Given the description of an element on the screen output the (x, y) to click on. 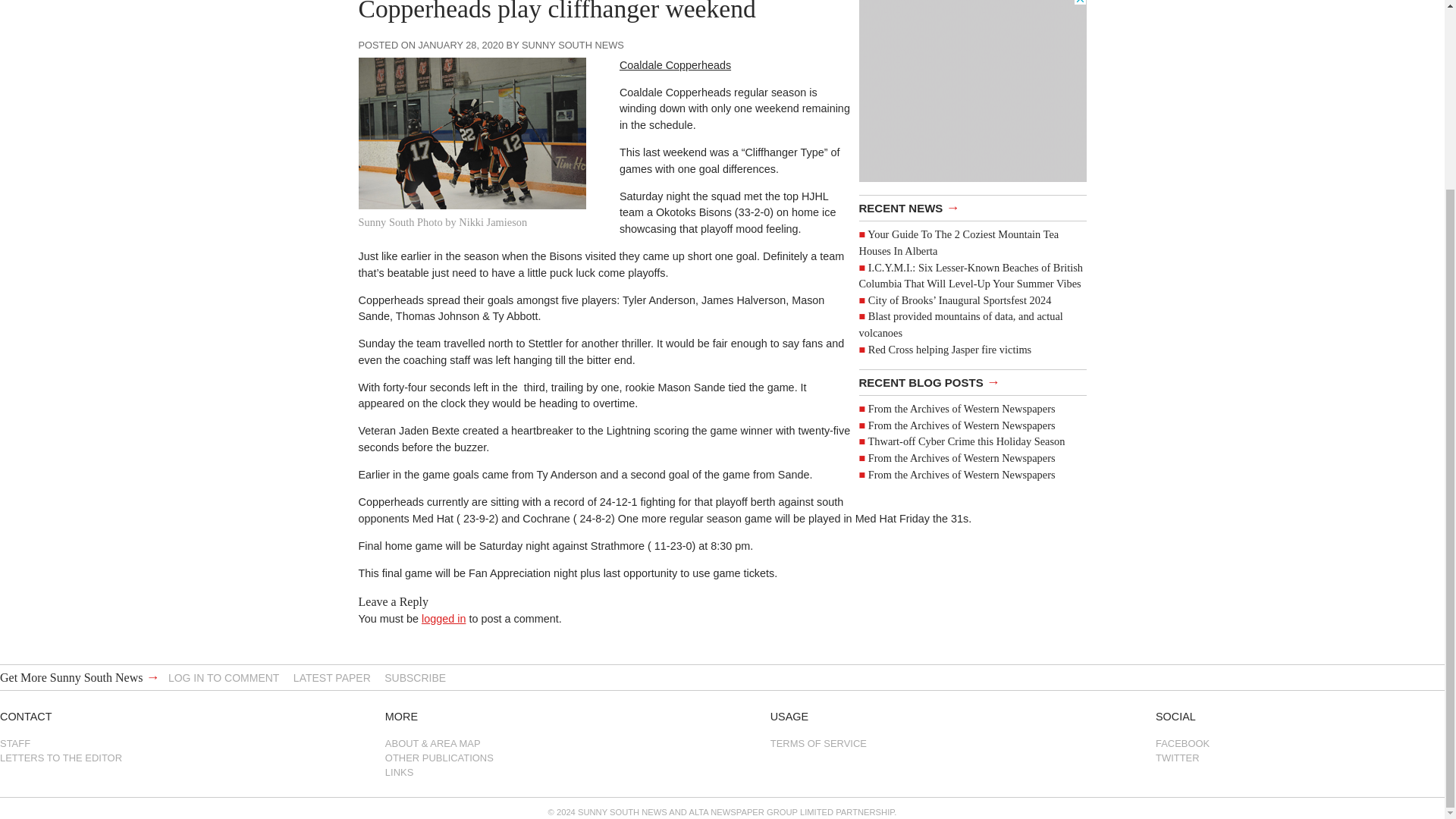
Thwart-off Cyber Crime this Holiday Season (966, 440)
From the Archives of Western Newspapers (961, 473)
From the Archives of Western Newspapers (961, 458)
logged in (443, 618)
Red Cross helping Jasper fire victims (948, 349)
3rd party ad content (972, 90)
Blast provided mountains of data, and actual volcanoes (960, 324)
From the Archives of Western Newspapers (961, 425)
From the Archives of Western Newspapers (961, 408)
LOG IN TO COMMENT (223, 677)
